Given the description of an element on the screen output the (x, y) to click on. 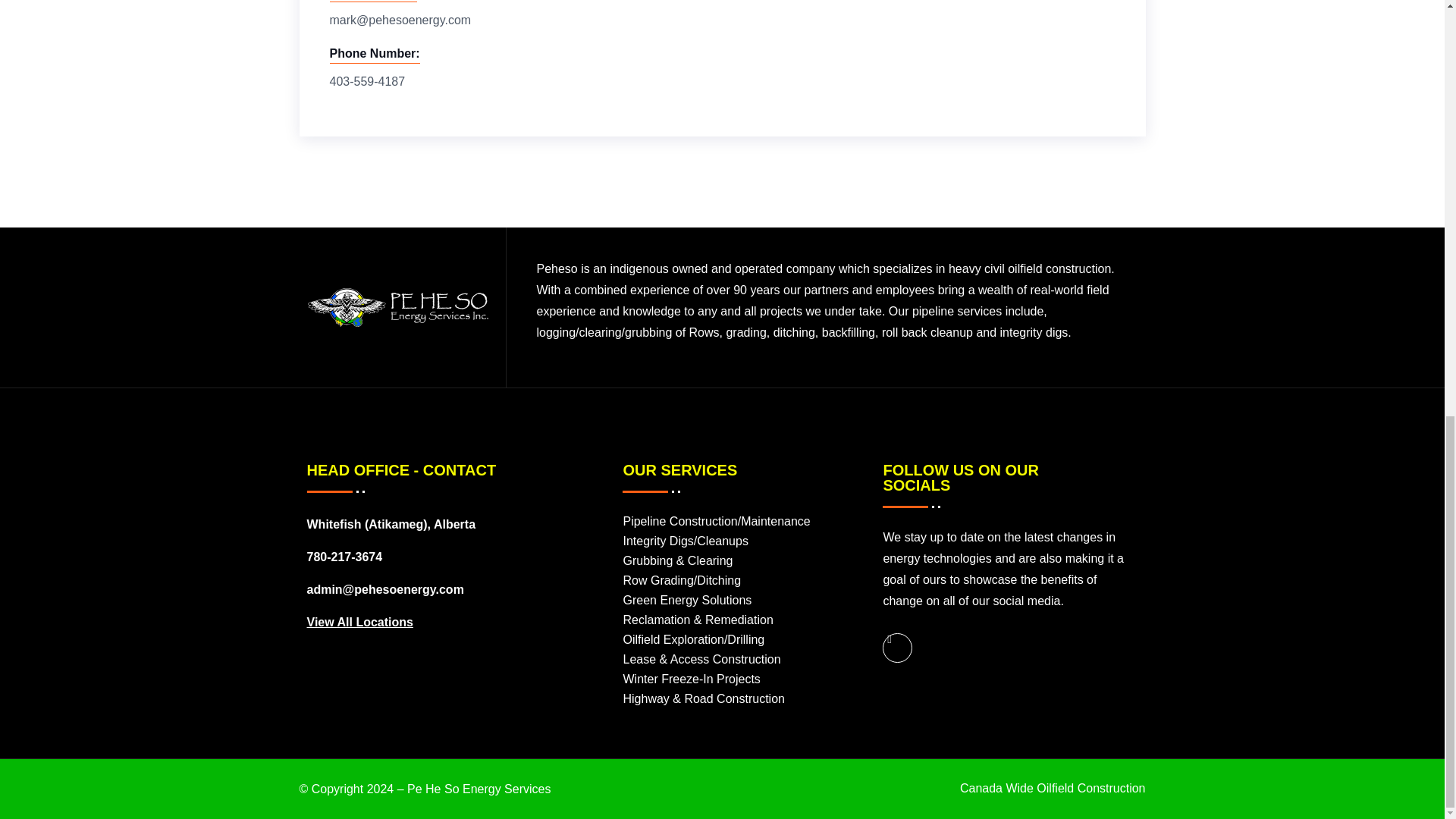
403-559-4187 (366, 81)
View All Locations (358, 622)
780-217-3674 (343, 557)
